Given the description of an element on the screen output the (x, y) to click on. 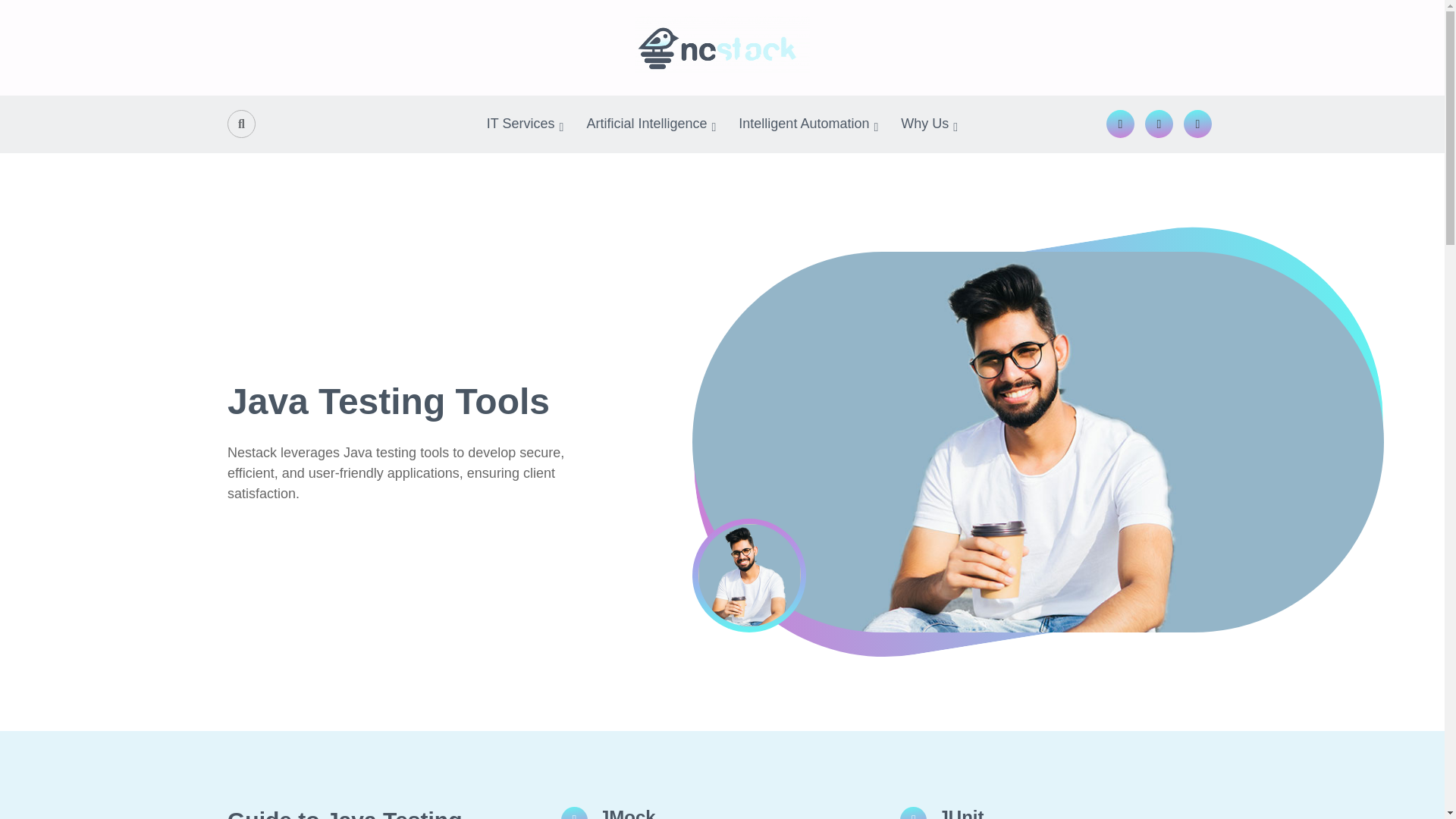
IT Services (525, 124)
